Given the description of an element on the screen output the (x, y) to click on. 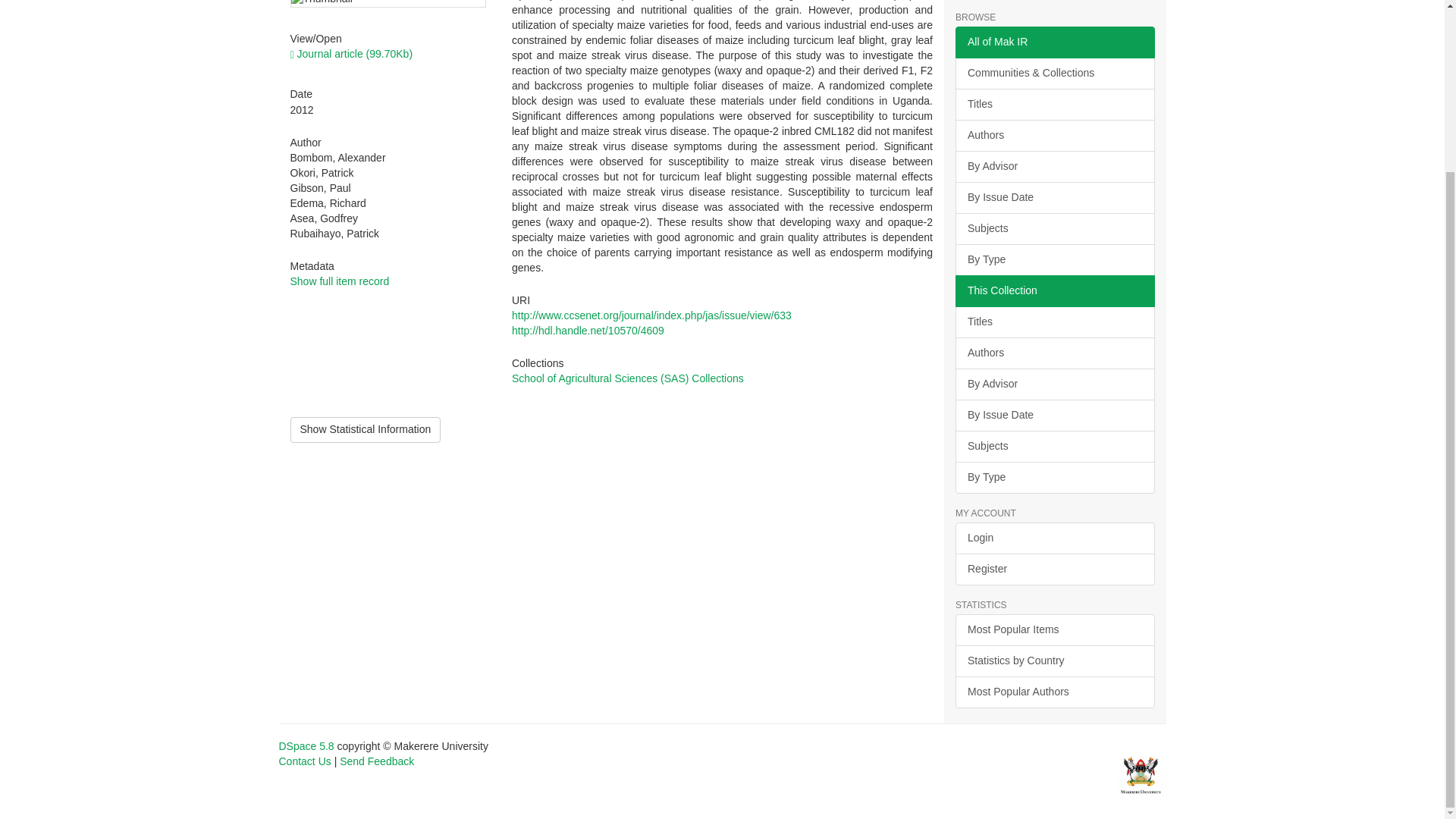
By Type (1054, 260)
All of Mak IR (1054, 42)
Show Statistical Information (365, 429)
By Advisor (1054, 384)
Atmire NV (1141, 775)
Titles (1054, 322)
Subjects (1054, 228)
Authors (1054, 353)
Show full item record (338, 281)
By Advisor (1054, 166)
